Given the description of an element on the screen output the (x, y) to click on. 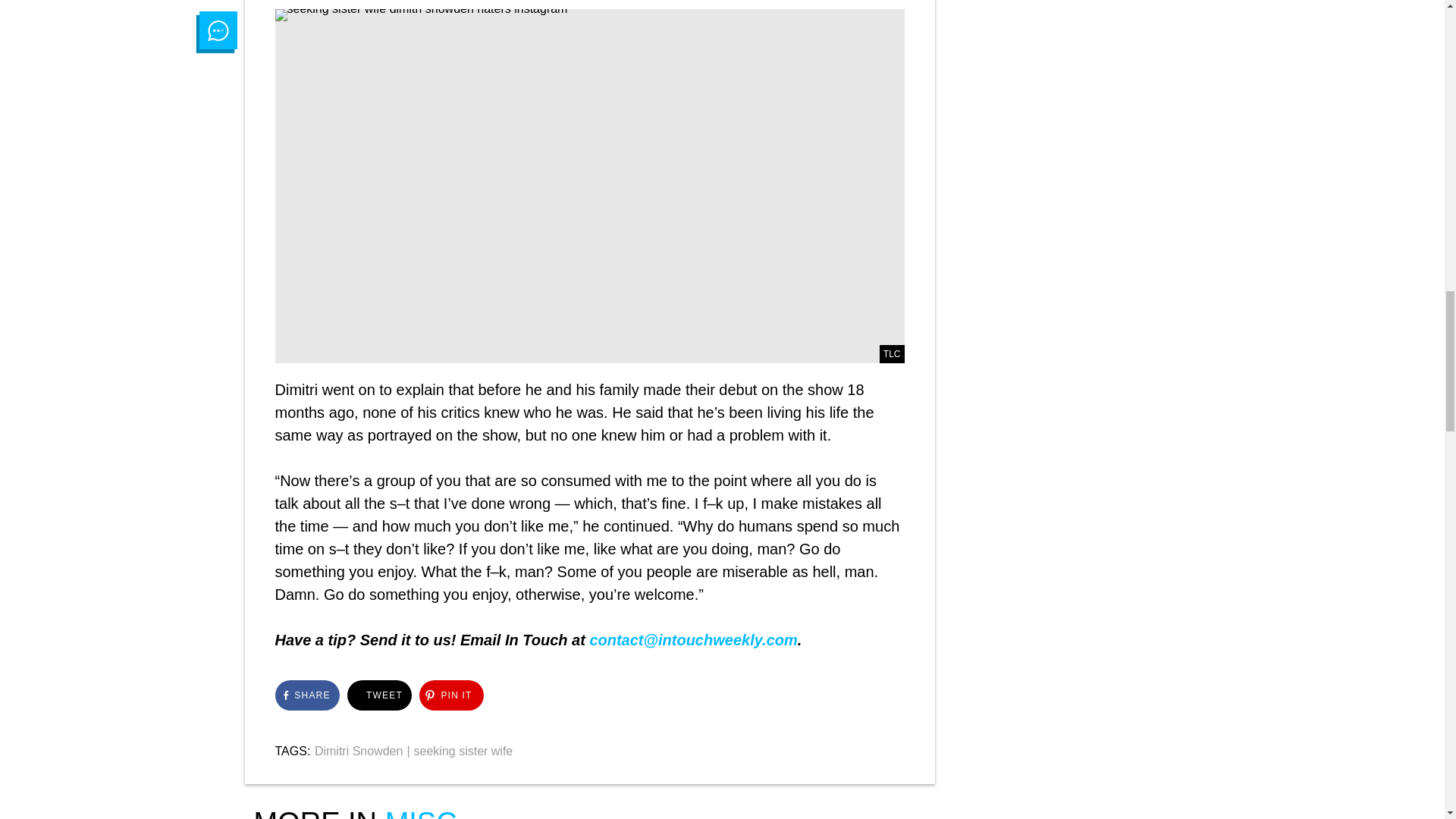
Click to share on Pinterest (451, 695)
Click to share on Twitter (379, 695)
Click to share on Facebook (307, 695)
